Given the description of an element on the screen output the (x, y) to click on. 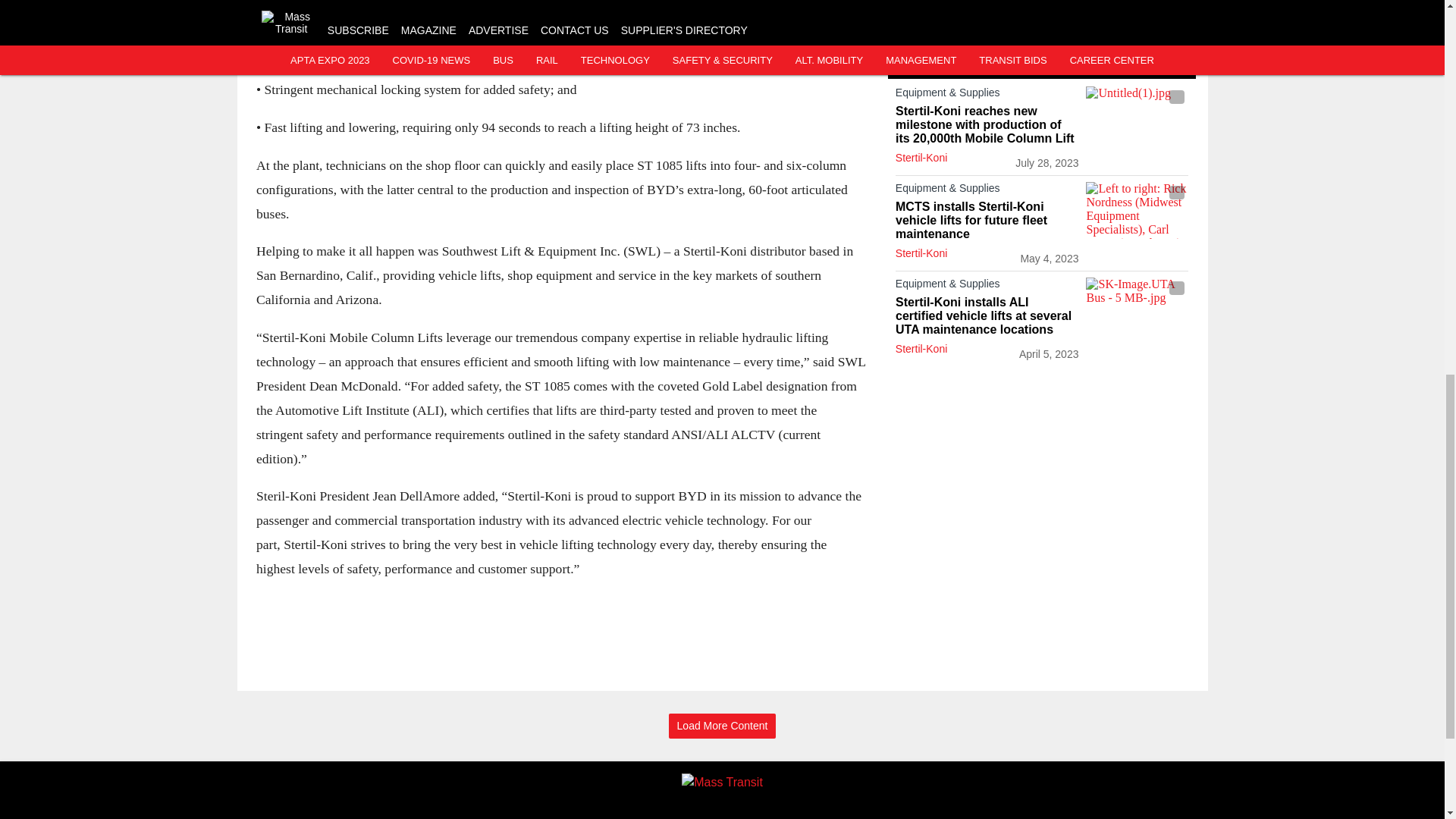
SK-Image.UTA Bus - 5 MB-.jpg (1137, 305)
Stertil-Koni (921, 348)
Stertil-Koni (921, 157)
Load More Content (722, 725)
Stertil-Koni (921, 253)
